Given the description of an element on the screen output the (x, y) to click on. 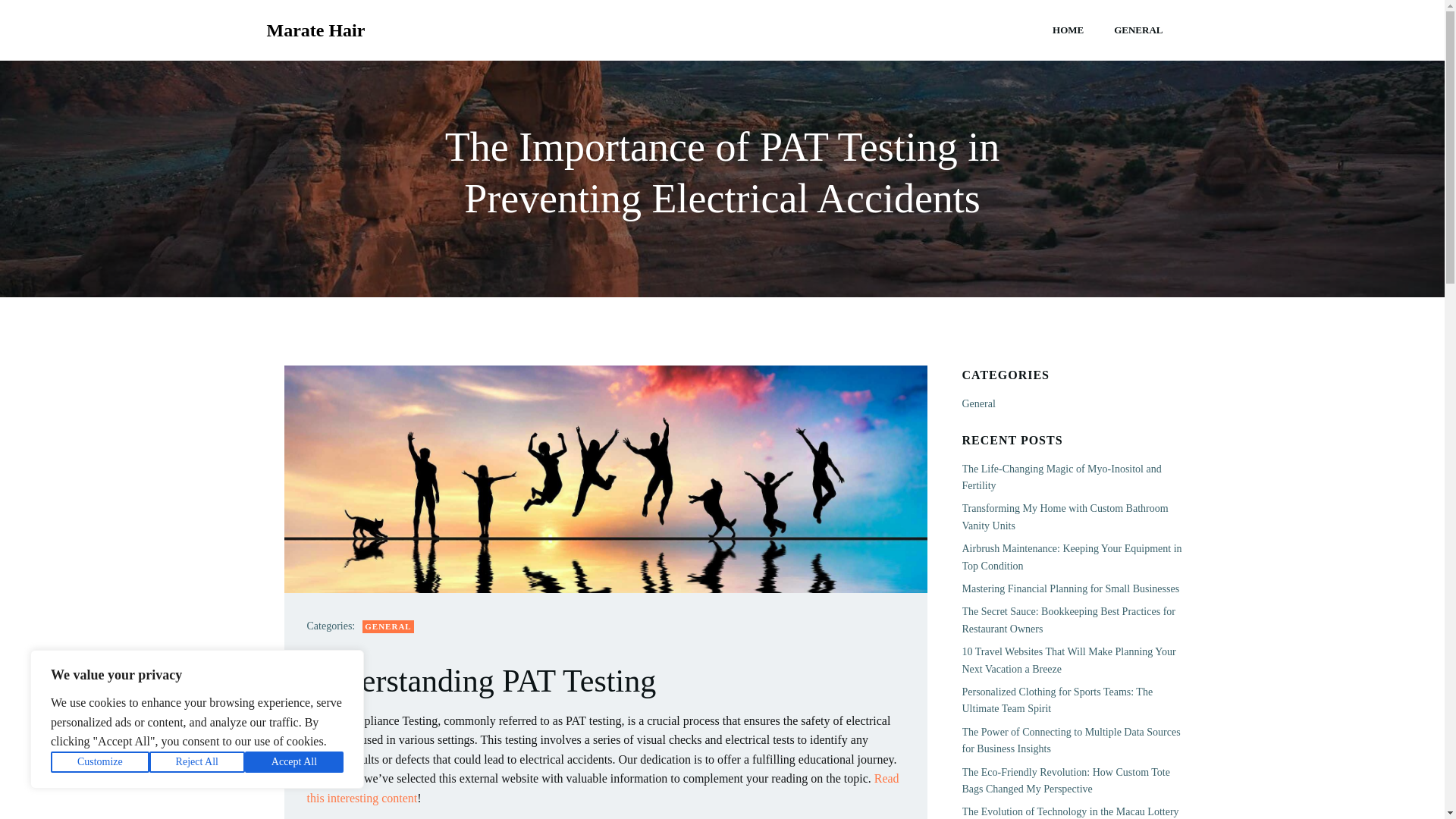
General (977, 403)
Reject All (196, 762)
Mastering Financial Planning for Small Businesses (1069, 588)
Marate Hair (315, 30)
GENERAL (387, 626)
GENERAL (1137, 29)
Accept All (293, 762)
Transforming My Home with Custom Bathroom Vanity Units (1063, 516)
HOME (1067, 29)
